Given the description of an element on the screen output the (x, y) to click on. 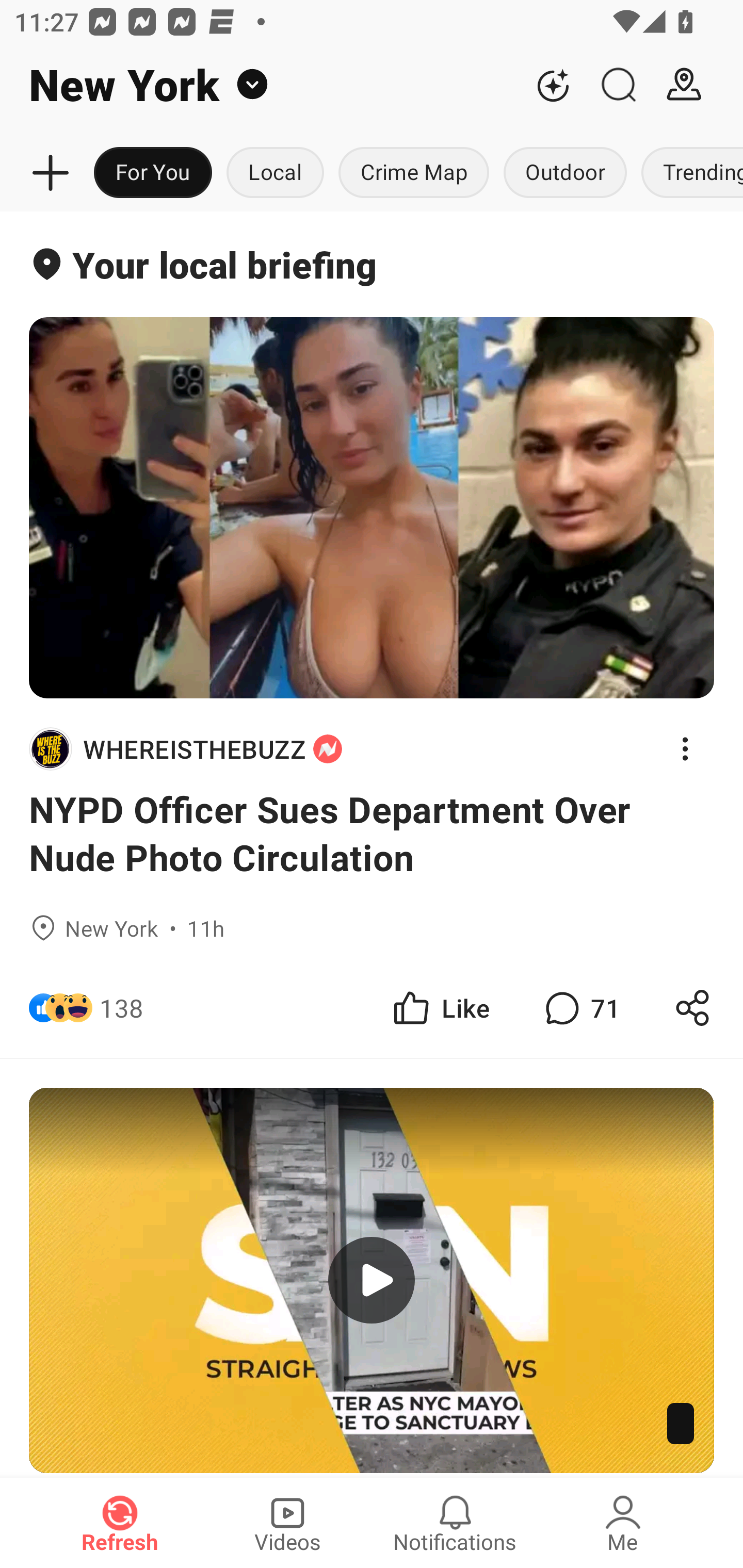
New York (260, 84)
For You (152, 172)
Local (275, 172)
Crime Map (413, 172)
Outdoor (564, 172)
Trending (688, 172)
138 (121, 1007)
Like (439, 1007)
71 (579, 1007)
Videos (287, 1522)
Notifications (455, 1522)
Me (622, 1522)
